Given the description of an element on the screen output the (x, y) to click on. 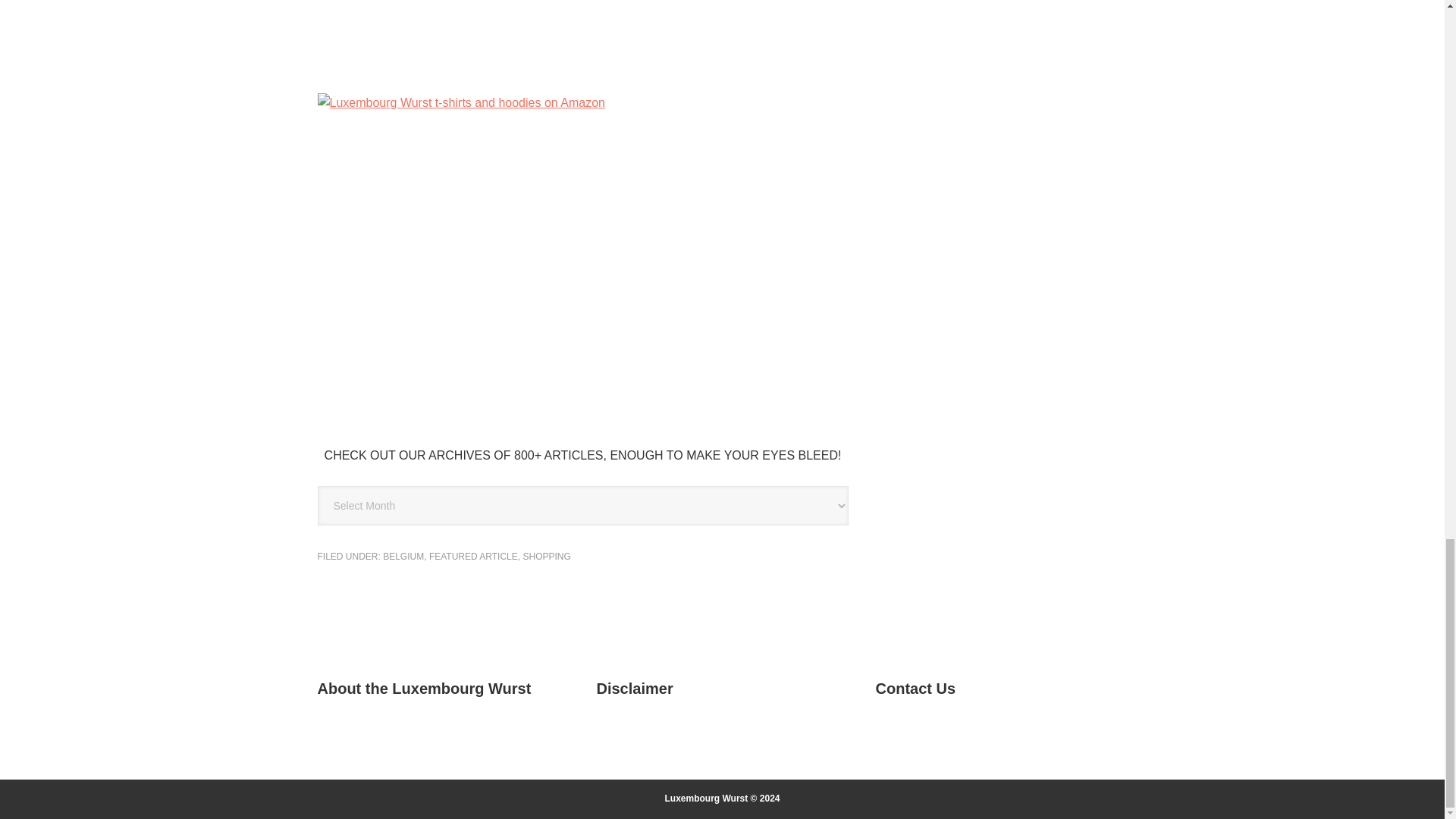
BELGIUM (402, 556)
SHOPPING (546, 556)
FEATURED ARTICLE (473, 556)
Black Fountain Press (582, 58)
